Given the description of an element on the screen output the (x, y) to click on. 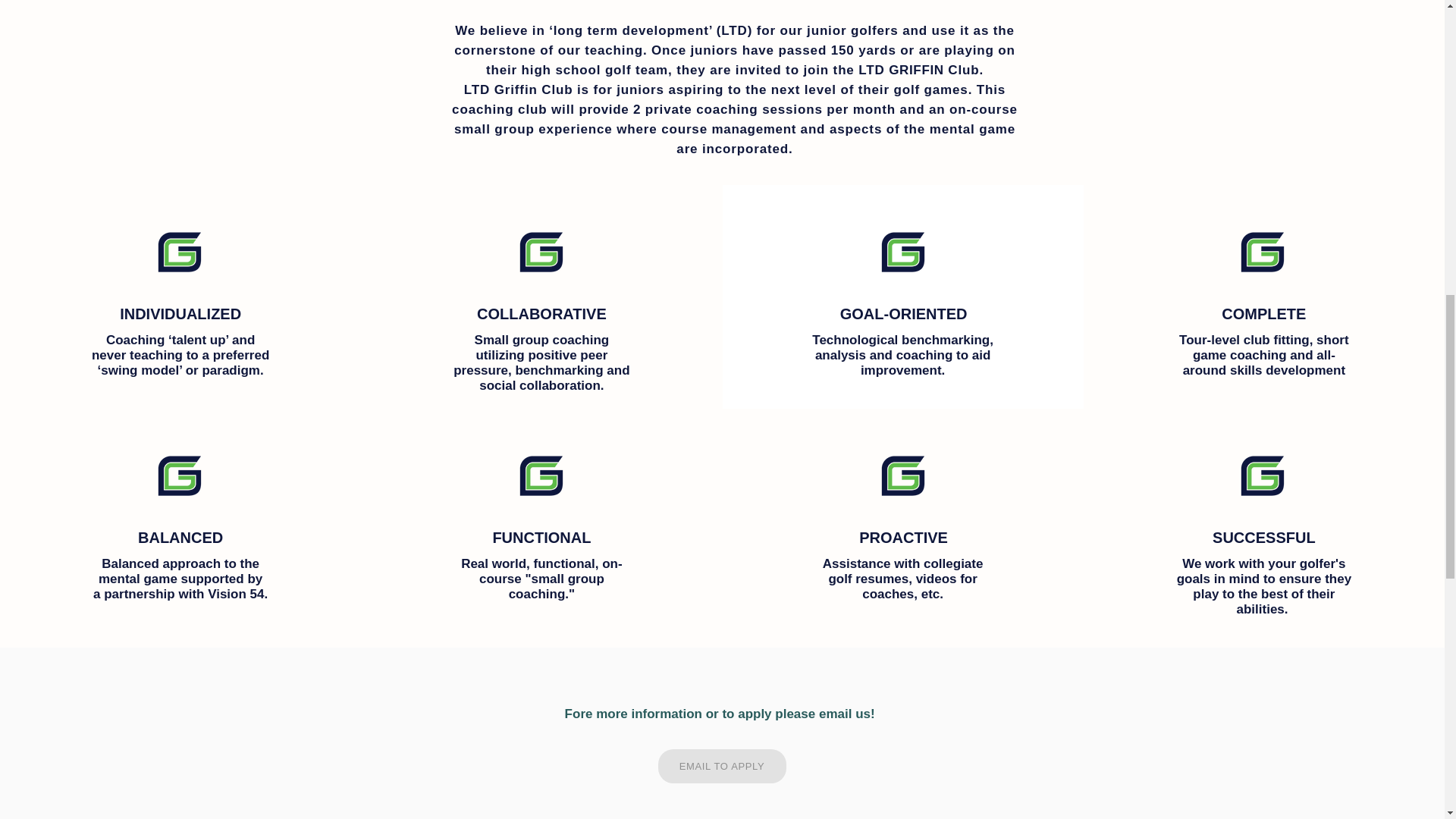
EMAIL TO APPLY (722, 765)
